Given the description of an element on the screen output the (x, y) to click on. 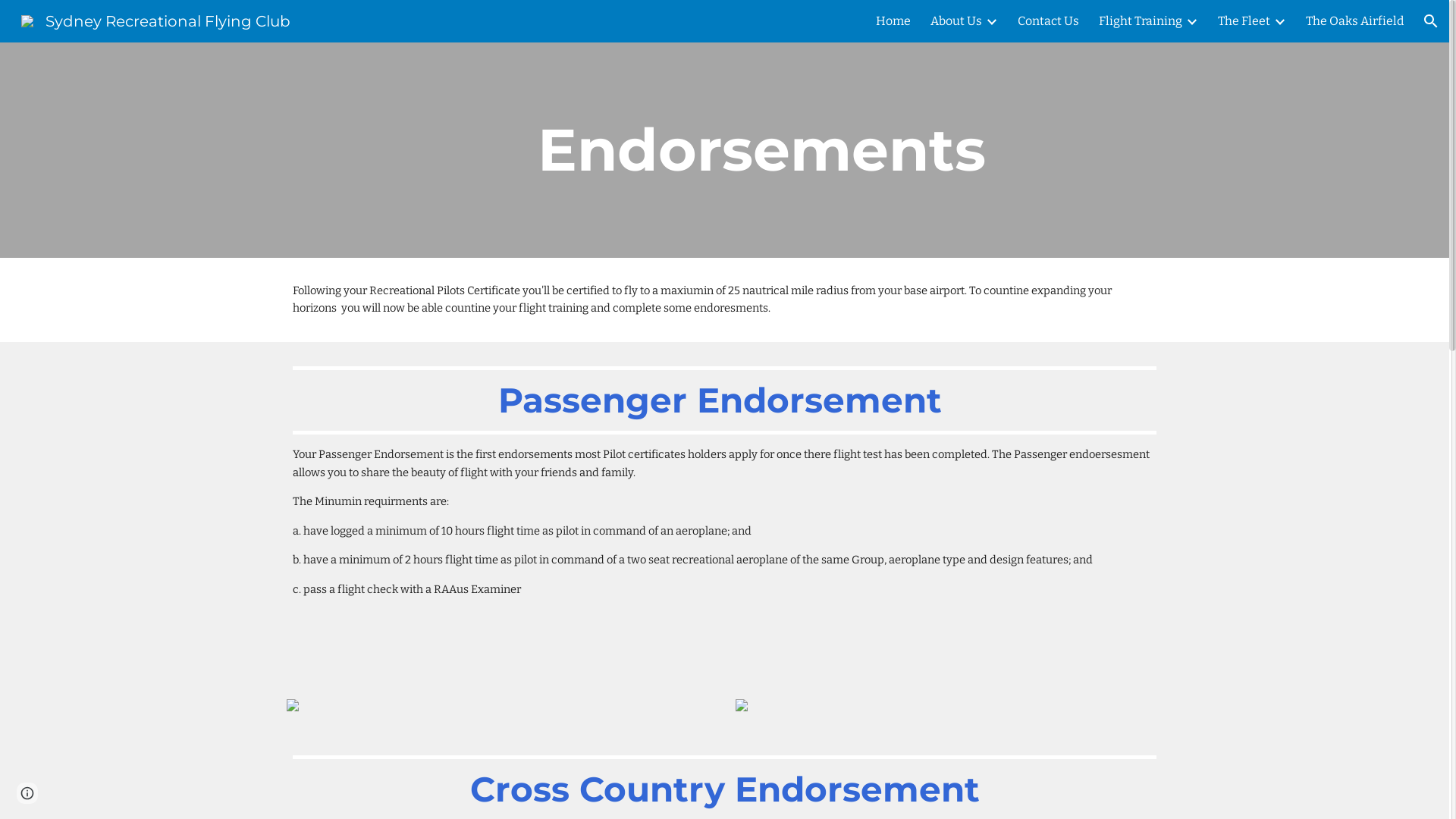
The Fleet Element type: text (1243, 20)
Expand/Collapse Element type: hover (1191, 20)
The Oaks Airfield Element type: text (1354, 20)
Home Element type: text (892, 20)
Expand/Collapse Element type: hover (1279, 20)
Flight Training Element type: text (1140, 20)
Expand/Collapse Element type: hover (990, 20)
About Us Element type: text (956, 20)
Sydney Recreational Flying Club Element type: text (155, 19)
Contact Us Element type: text (1048, 20)
